Given the description of an element on the screen output the (x, y) to click on. 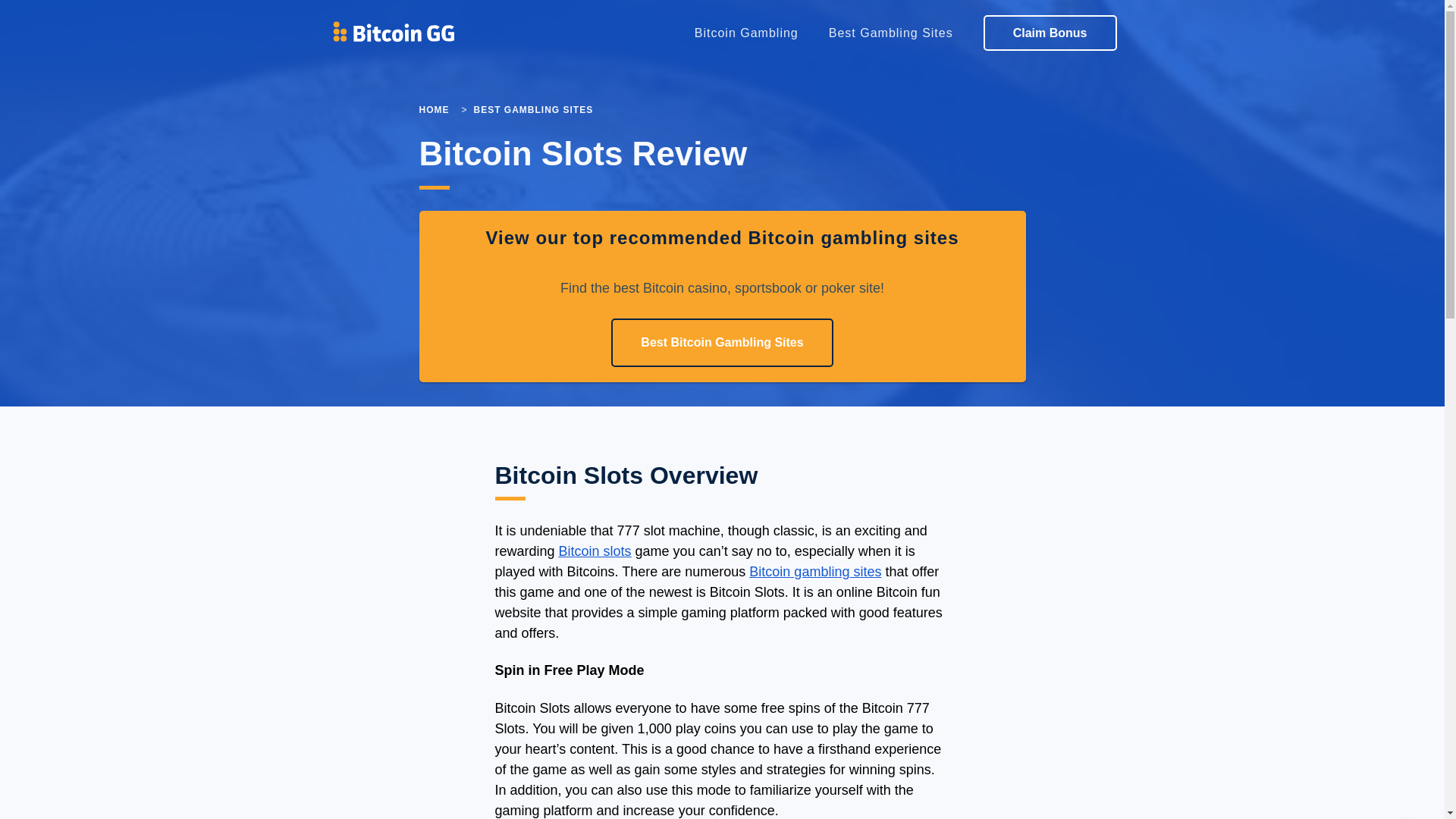
Best Gambling Sites (890, 32)
Bitcoin Gambling (745, 32)
Claim Bonus (1050, 32)
